Given the description of an element on the screen output the (x, y) to click on. 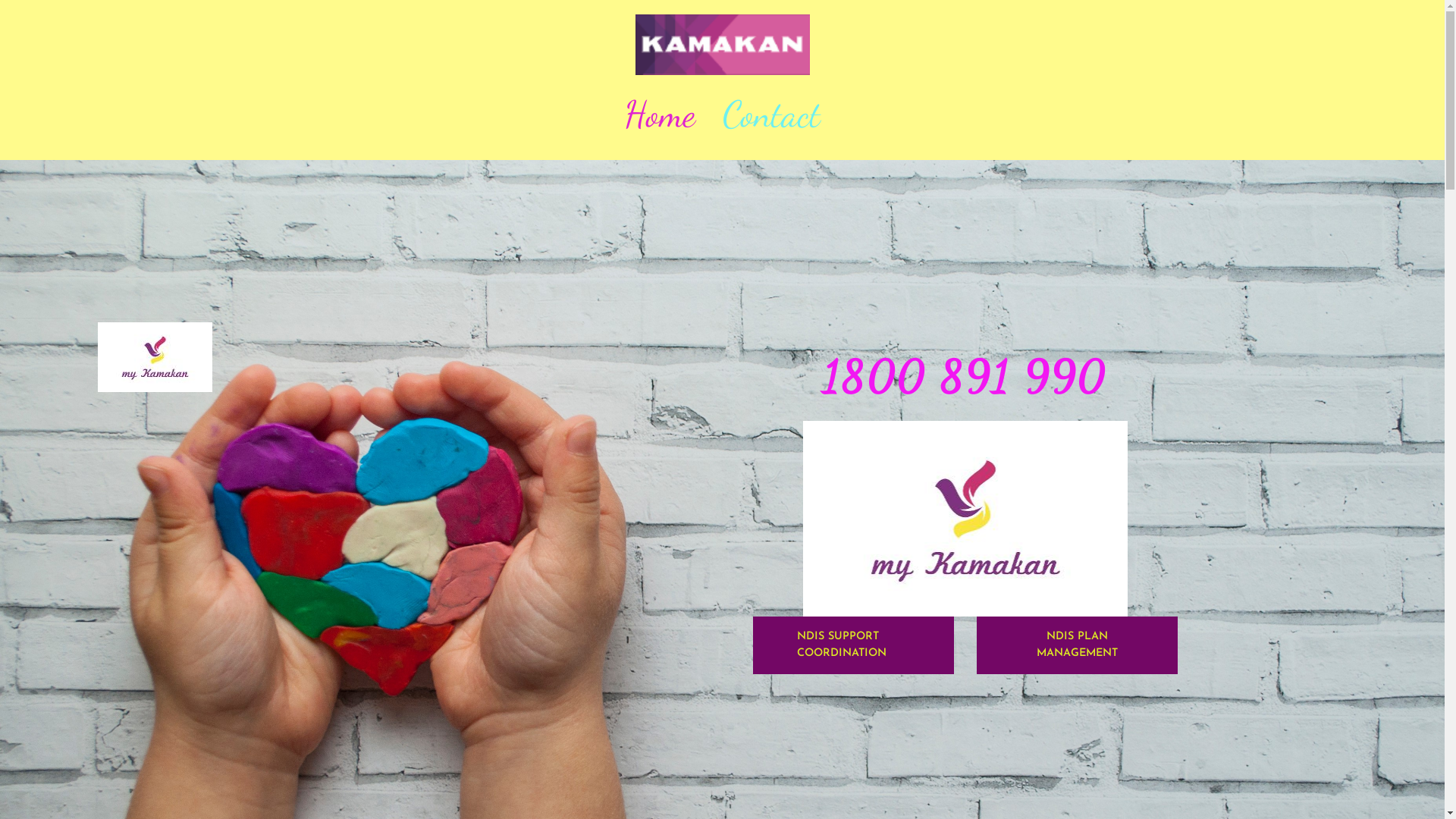
NDIS PLAN MANAGEMENT Element type: text (1076, 645)
Home Element type: text (659, 113)
Contact Element type: text (771, 113)
NDIS SUPPORT COORDINATION Element type: text (852, 645)
